Given the description of an element on the screen output the (x, y) to click on. 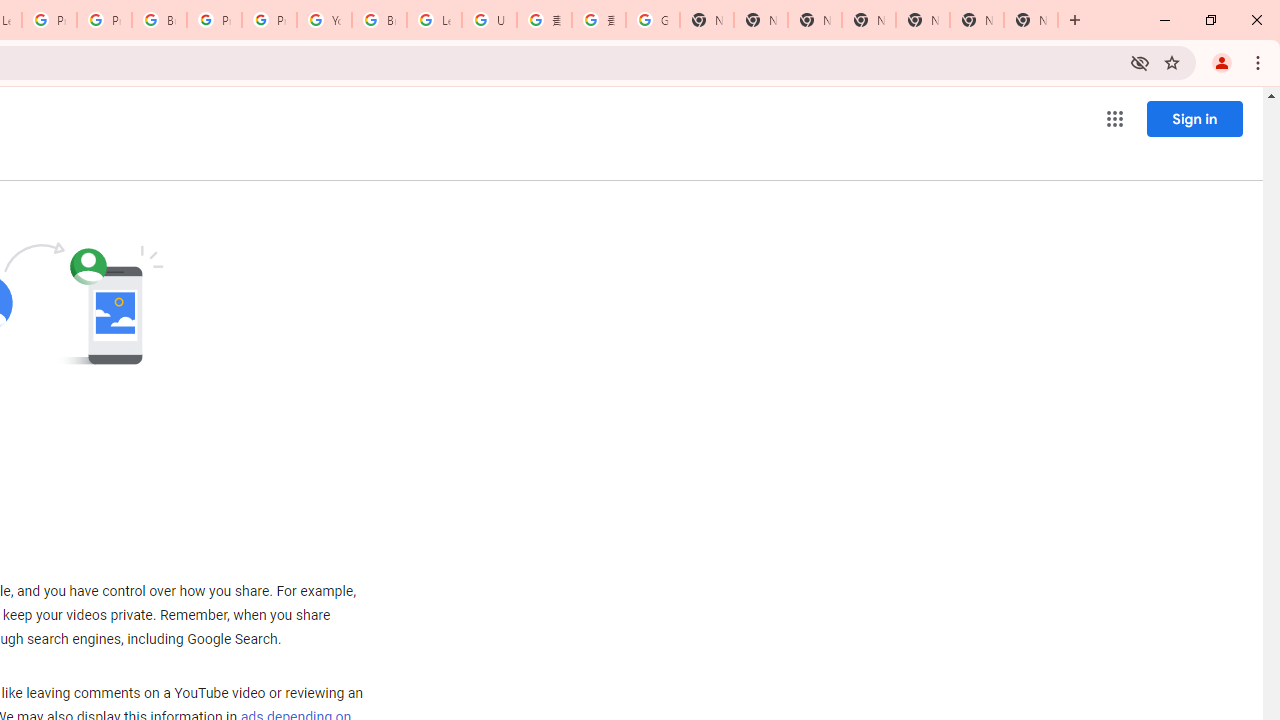
New Tab (868, 20)
Privacy Help Center - Policies Help (48, 20)
Privacy Help Center - Policies Help (103, 20)
